Given the description of an element on the screen output the (x, y) to click on. 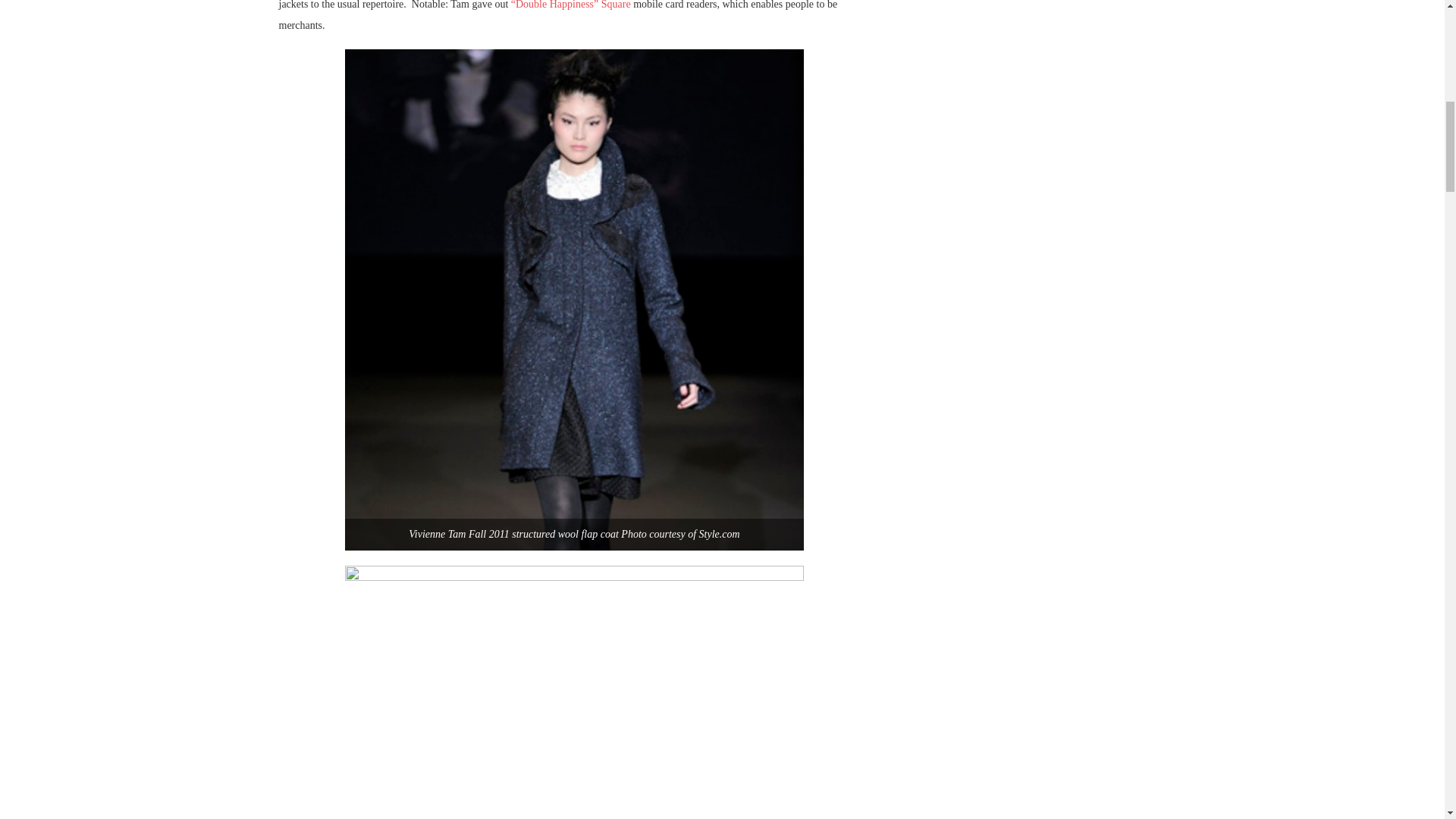
tam2 (574, 692)
